Given the description of an element on the screen output the (x, y) to click on. 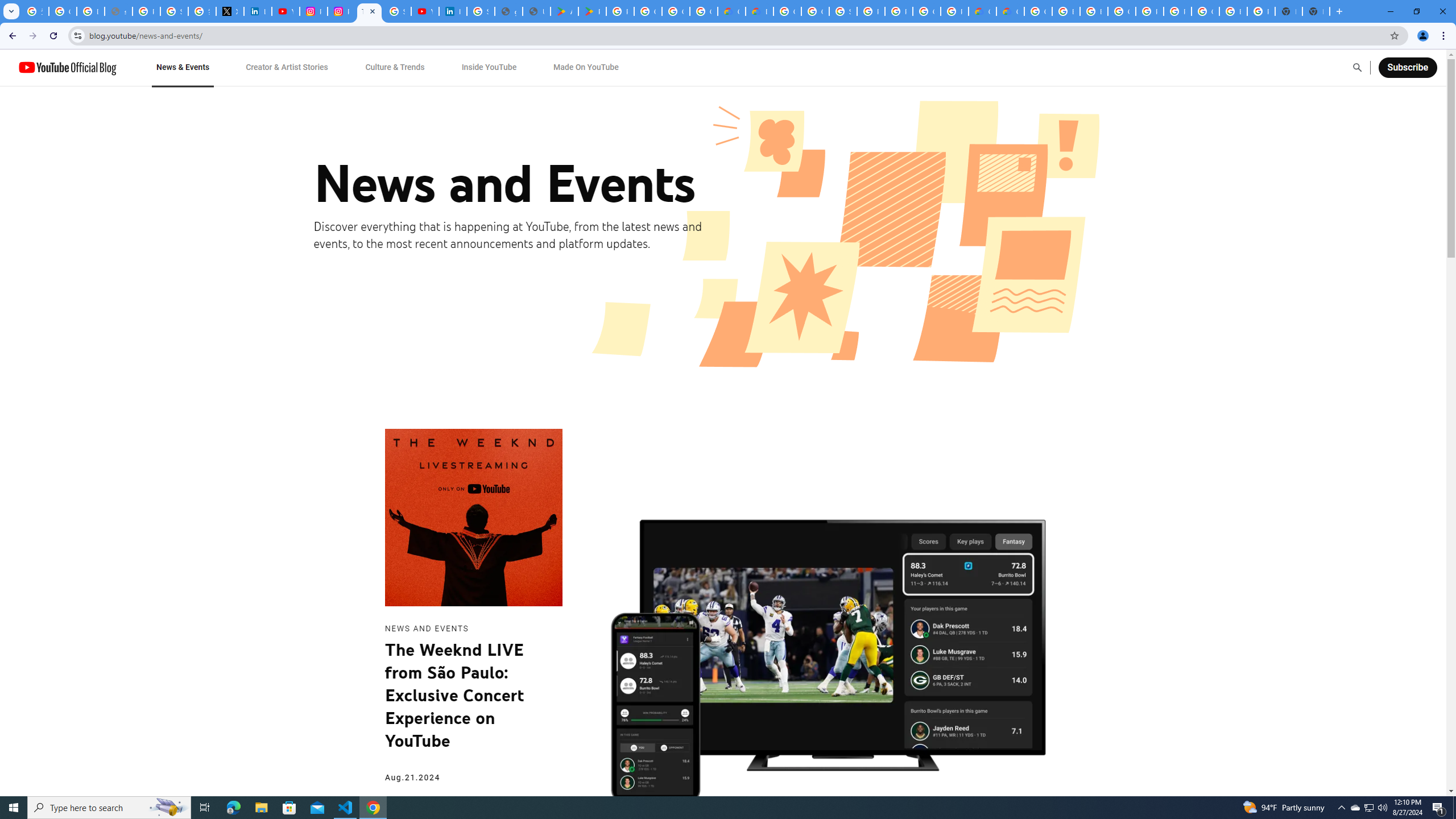
Google Cloud Platform (926, 11)
google_privacy_policy_en.pdf (508, 11)
Google Cloud Estimate Summary (1010, 11)
support.google.com - Network error (118, 11)
Sign in - Google Accounts (397, 11)
Google Cloud Platform (1121, 11)
